Given the description of an element on the screen output the (x, y) to click on. 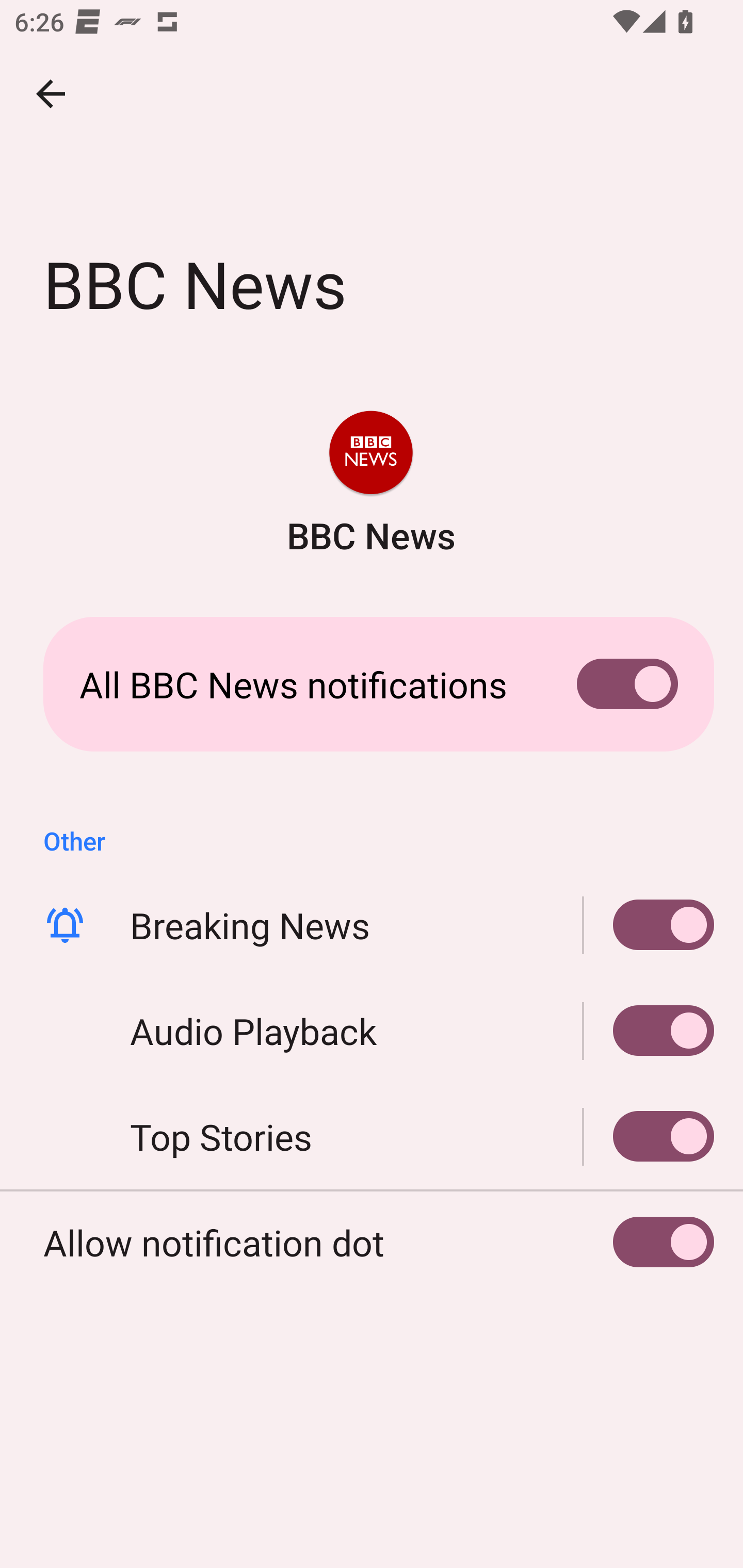
Navigate up (50, 93)
BBC News (370, 484)
All BBC News notifications (371, 684)
Breaking News (371, 924)
Breaking News (648, 924)
Audio Playback (371, 1030)
Audio Playback (648, 1030)
Top Stories (371, 1136)
Top Stories (648, 1136)
Allow notification dot (371, 1242)
